Given the description of an element on the screen output the (x, y) to click on. 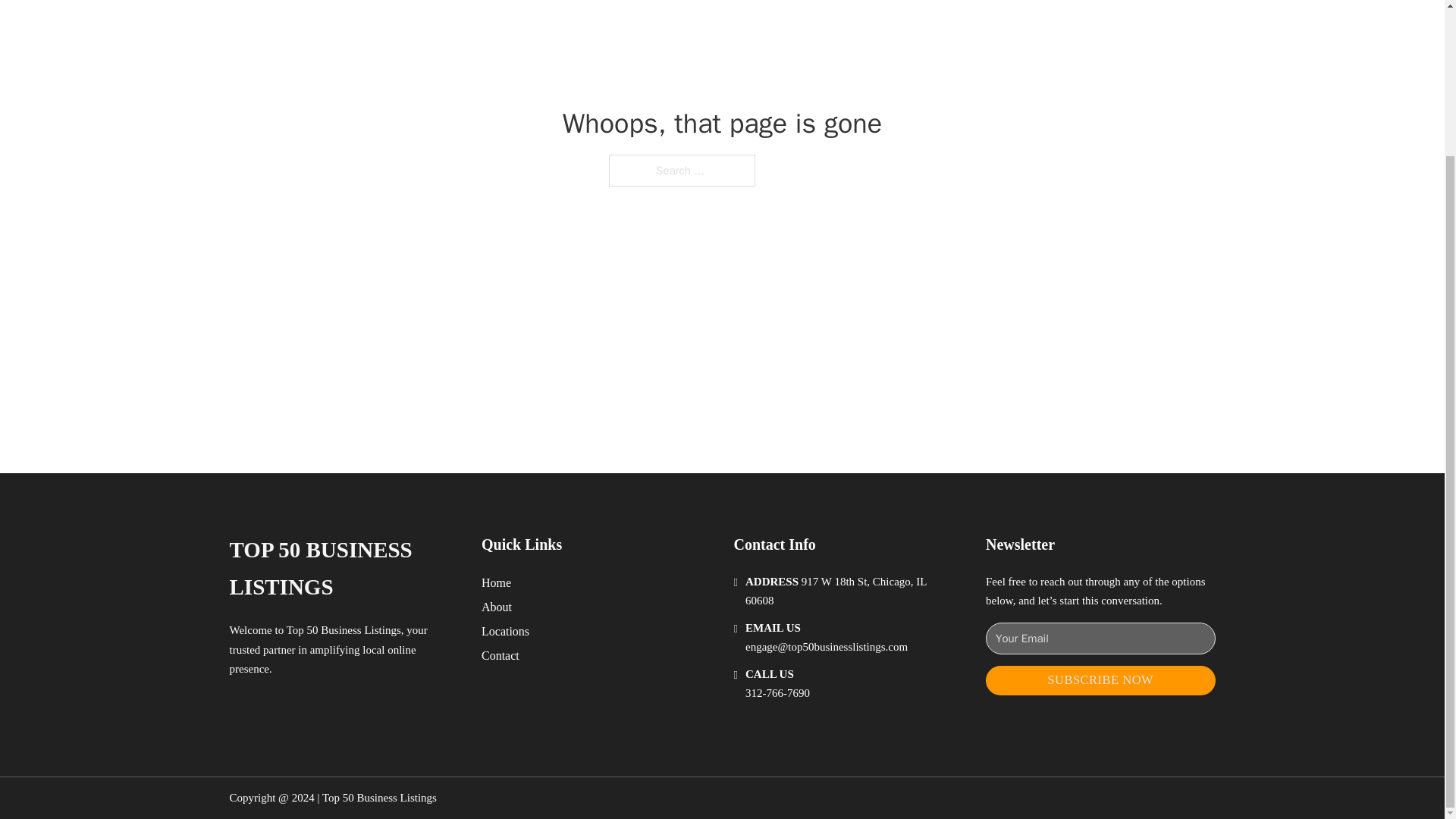
312-766-7690 (777, 693)
Contact (500, 655)
Home (496, 582)
Locations (505, 630)
About (496, 607)
SUBSCRIBE NOW (1100, 680)
TOP 50 BUSINESS LISTINGS (343, 568)
